Given the description of an element on the screen output the (x, y) to click on. 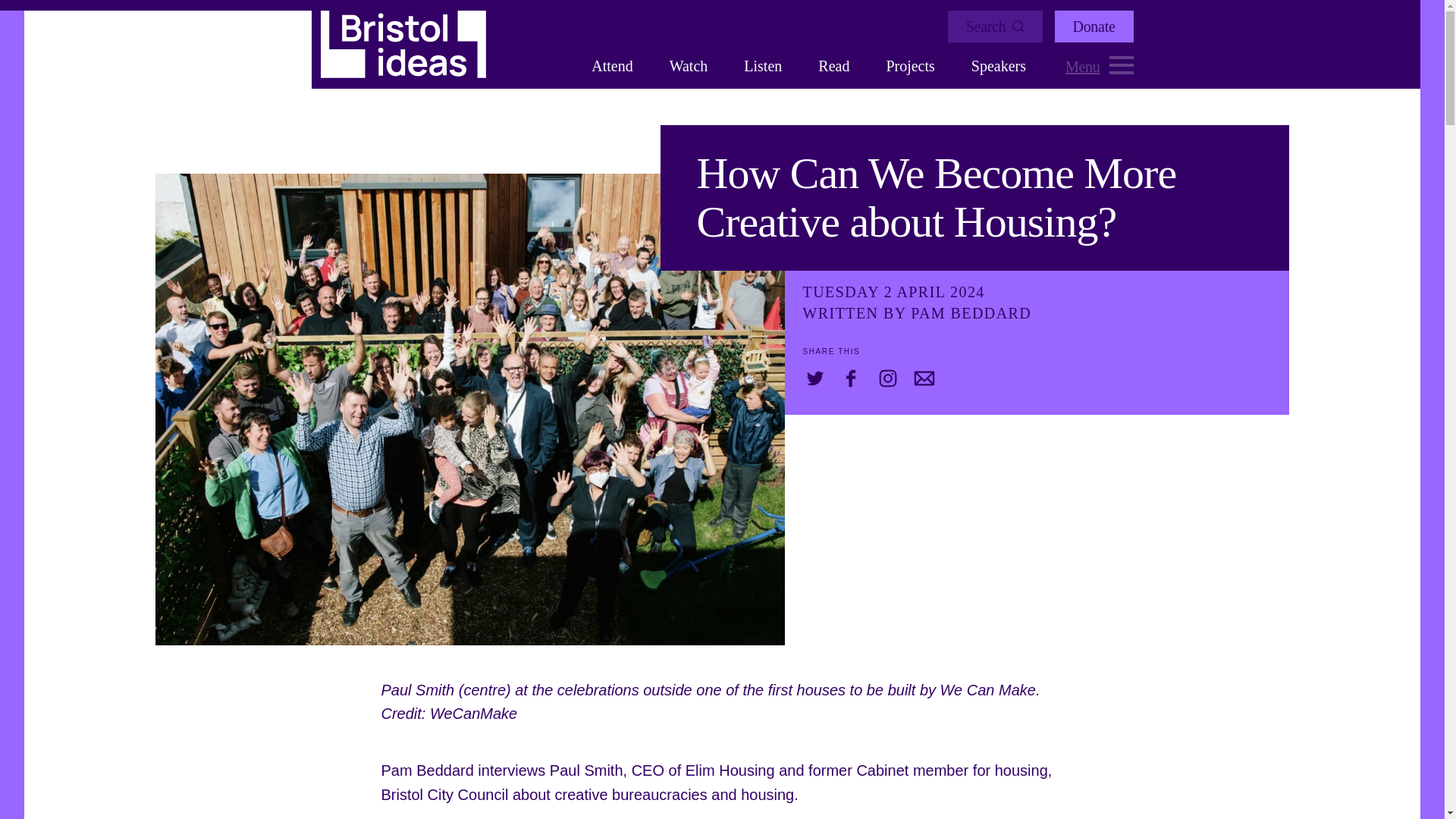
Menu (1099, 66)
Projects (909, 65)
Watch (688, 65)
Read (834, 65)
Speakers (998, 65)
Donate (1094, 26)
Listen (762, 65)
Search (994, 26)
Attend (612, 65)
